Given the description of an element on the screen output the (x, y) to click on. 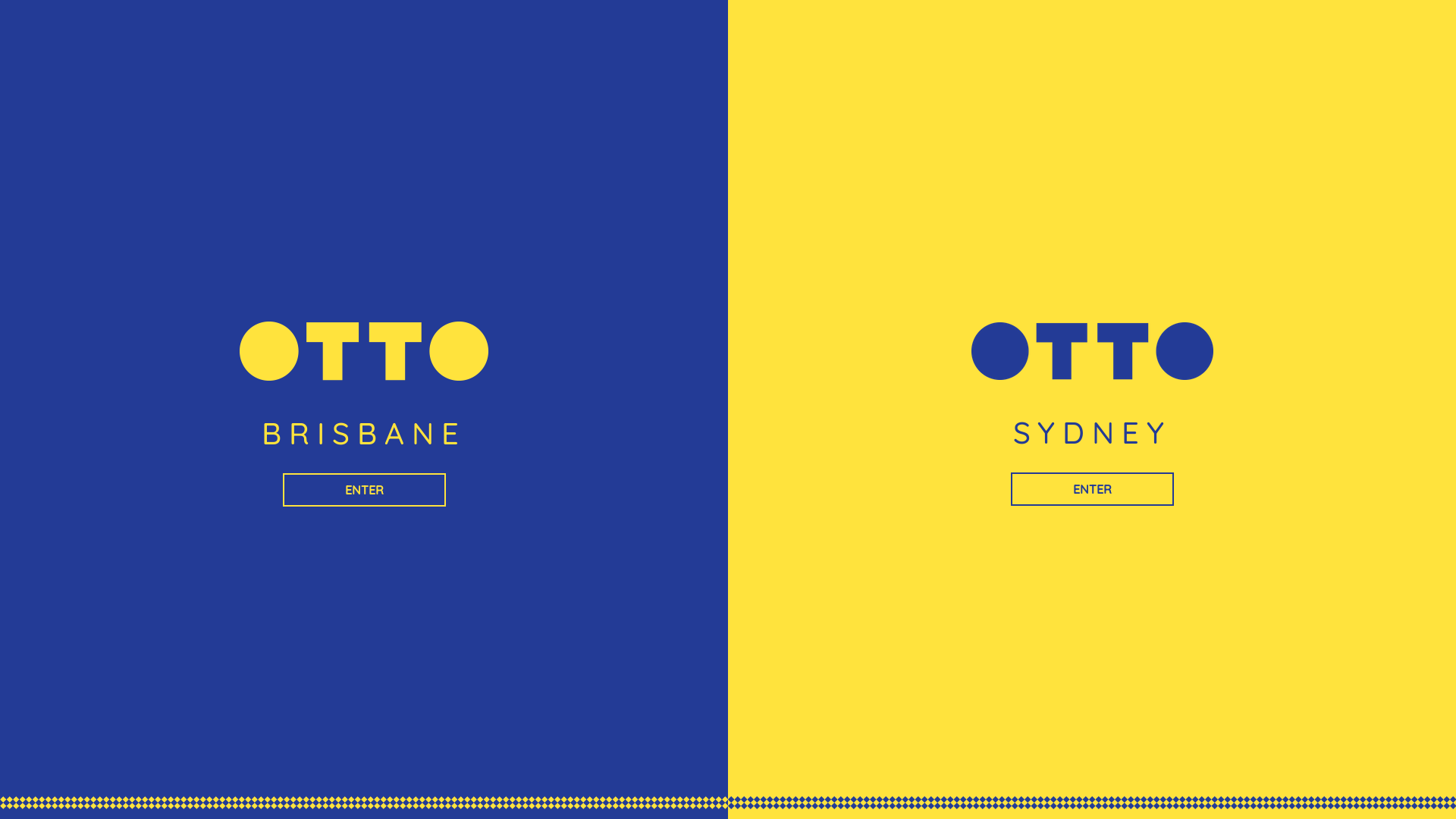
ENTER Element type: text (1091, 488)
ENTER Element type: text (363, 489)
